Given the description of an element on the screen output the (x, y) to click on. 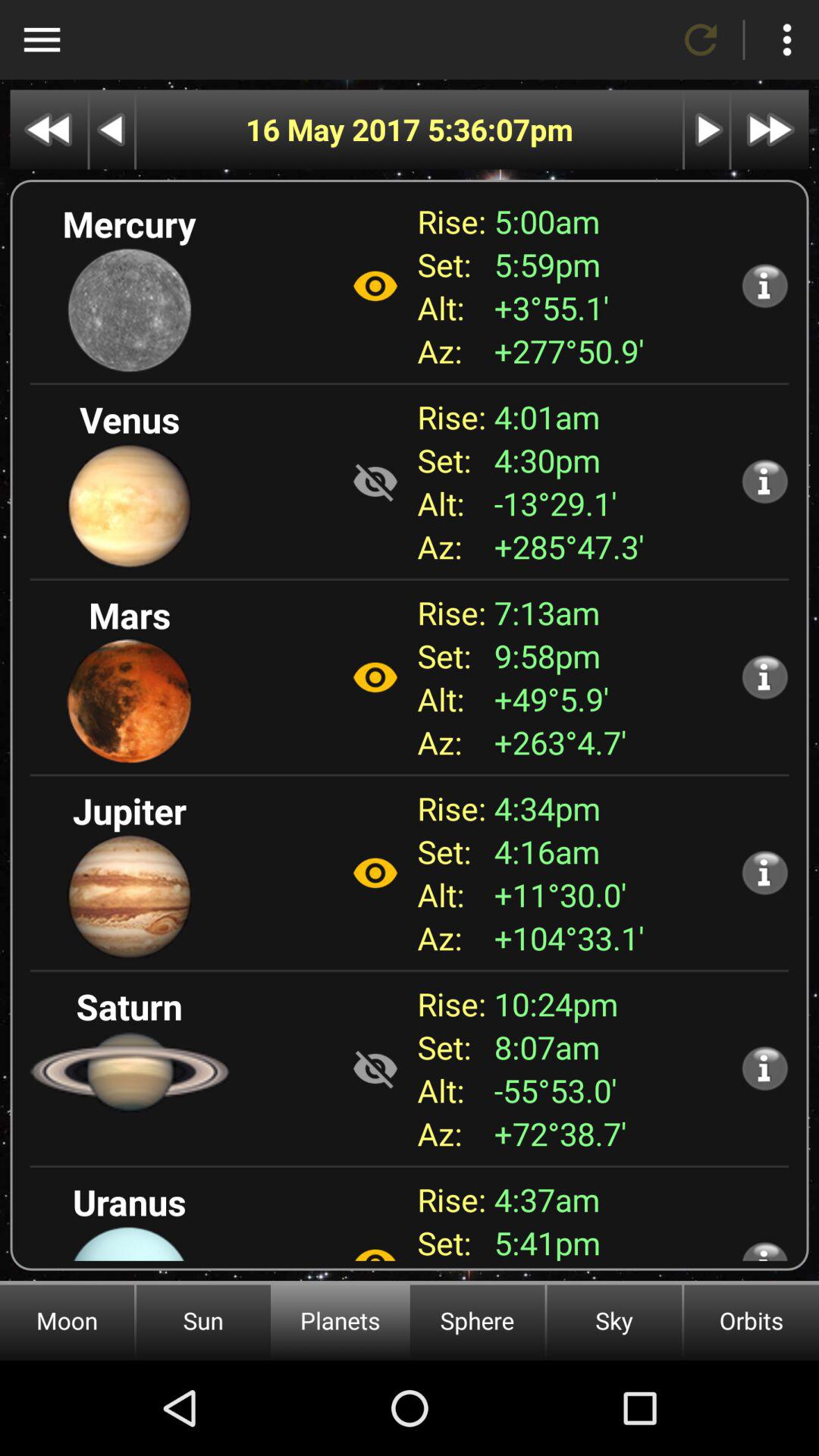
show the planet (375, 1068)
